Given the description of an element on the screen output the (x, y) to click on. 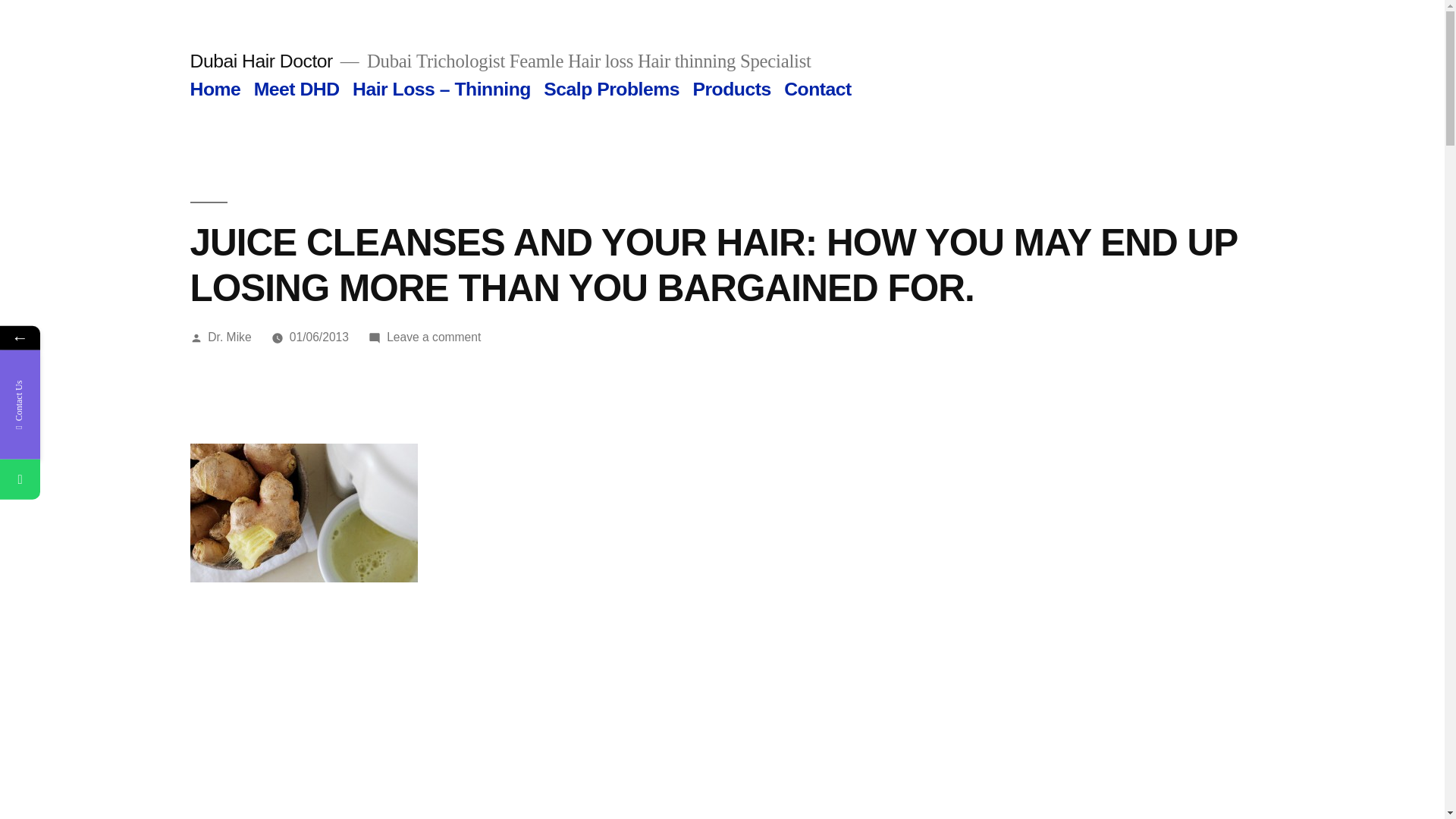
Products (731, 88)
Contact (817, 88)
Dr. Mike (229, 336)
Dubai Hair Doctor (260, 60)
Scalp Problems (611, 88)
juices (302, 512)
Home (214, 88)
WhatsApp (92, 478)
WhatsApp (20, 478)
